Given the description of an element on the screen output the (x, y) to click on. 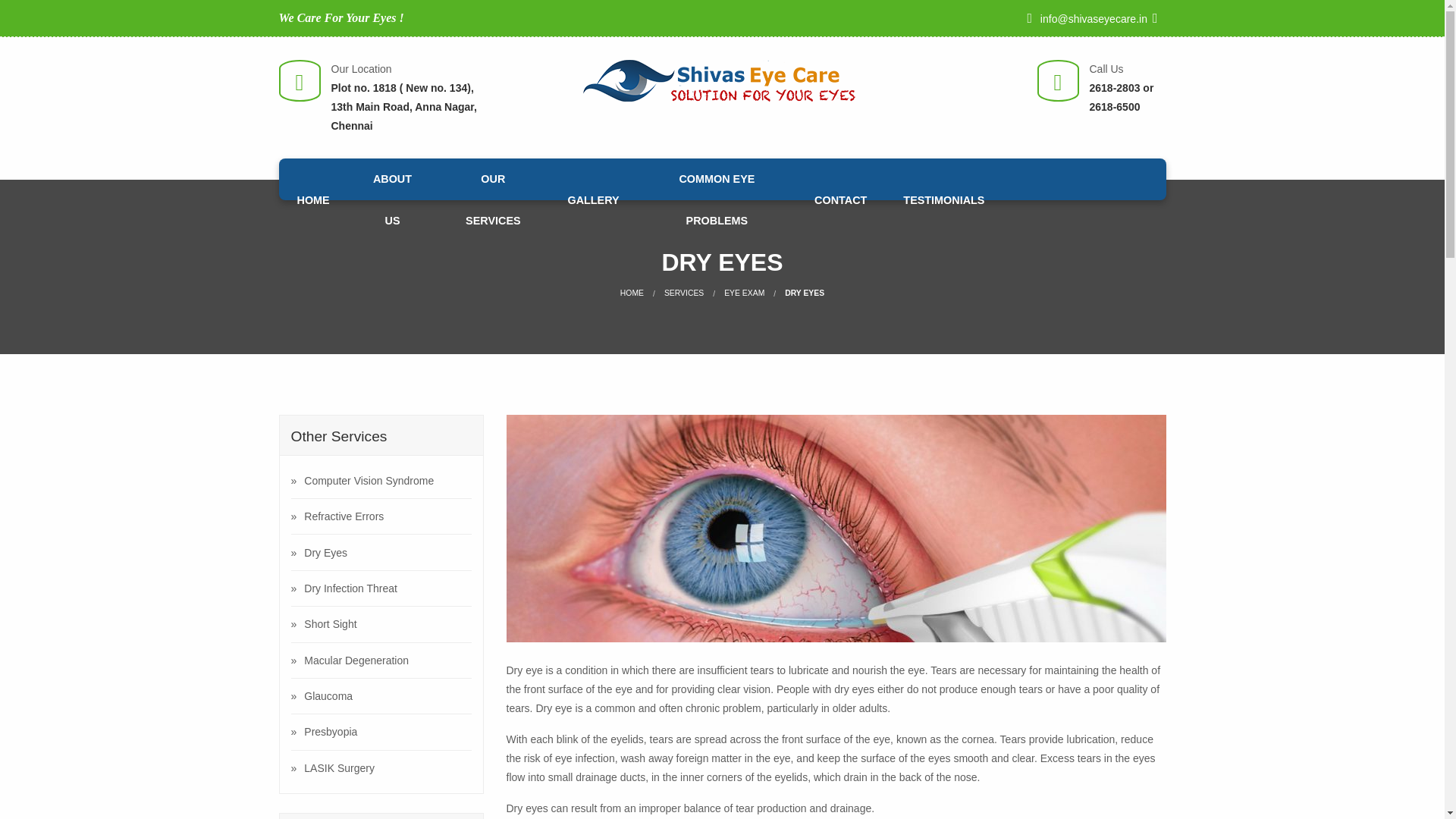
EYE EXAM (743, 293)
Dry Infection Threat (381, 587)
ABOUT US (392, 199)
Home (631, 293)
GALLERY (592, 199)
Macular Degeneration (381, 660)
COMMON EYE PROBLEMS (716, 199)
Short Sight (381, 624)
HOME (631, 293)
LASIK Surgery (381, 768)
